Given the description of an element on the screen output the (x, y) to click on. 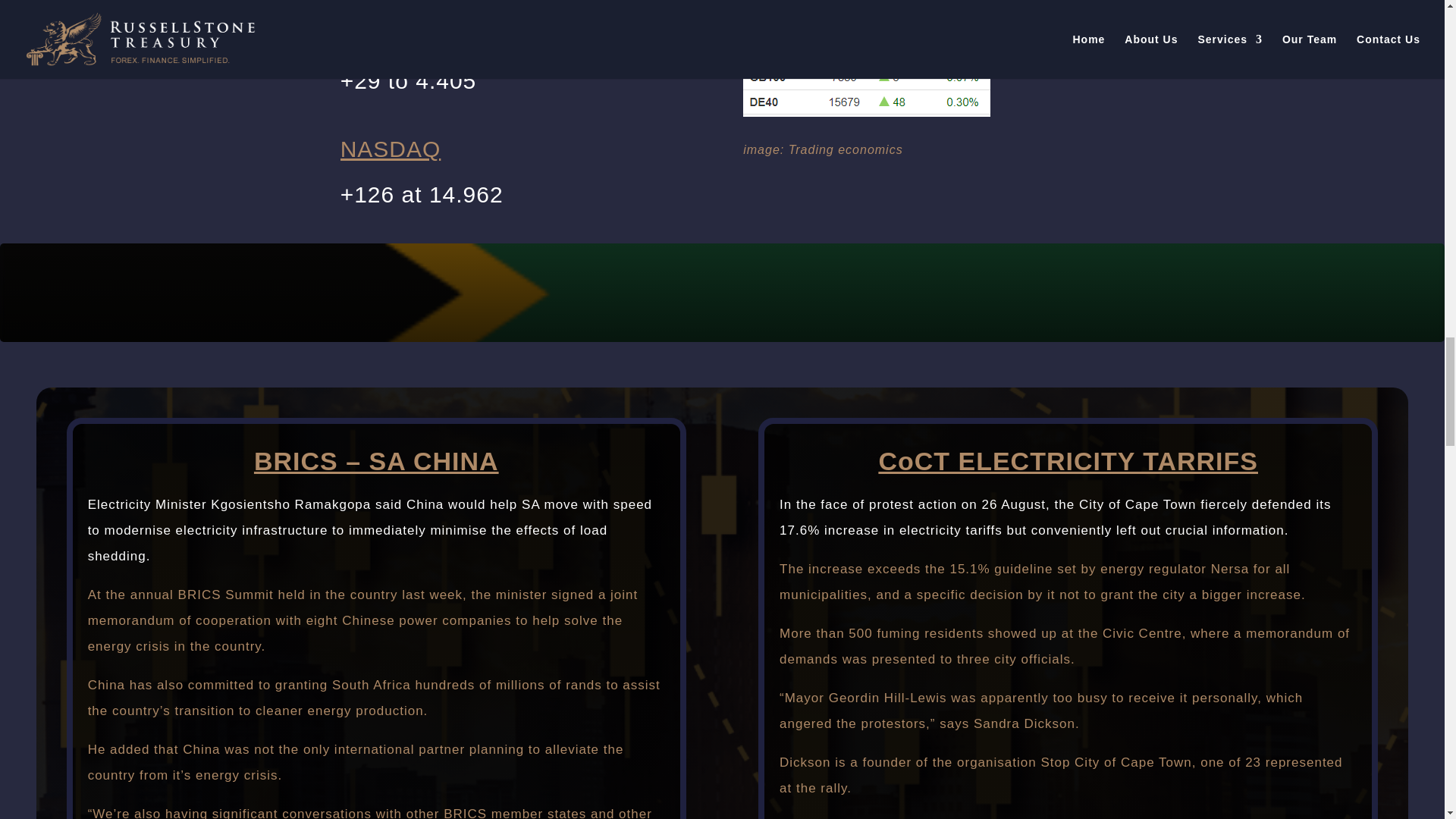
RST - 2 28082023 (866, 58)
